Given the description of an element on the screen output the (x, y) to click on. 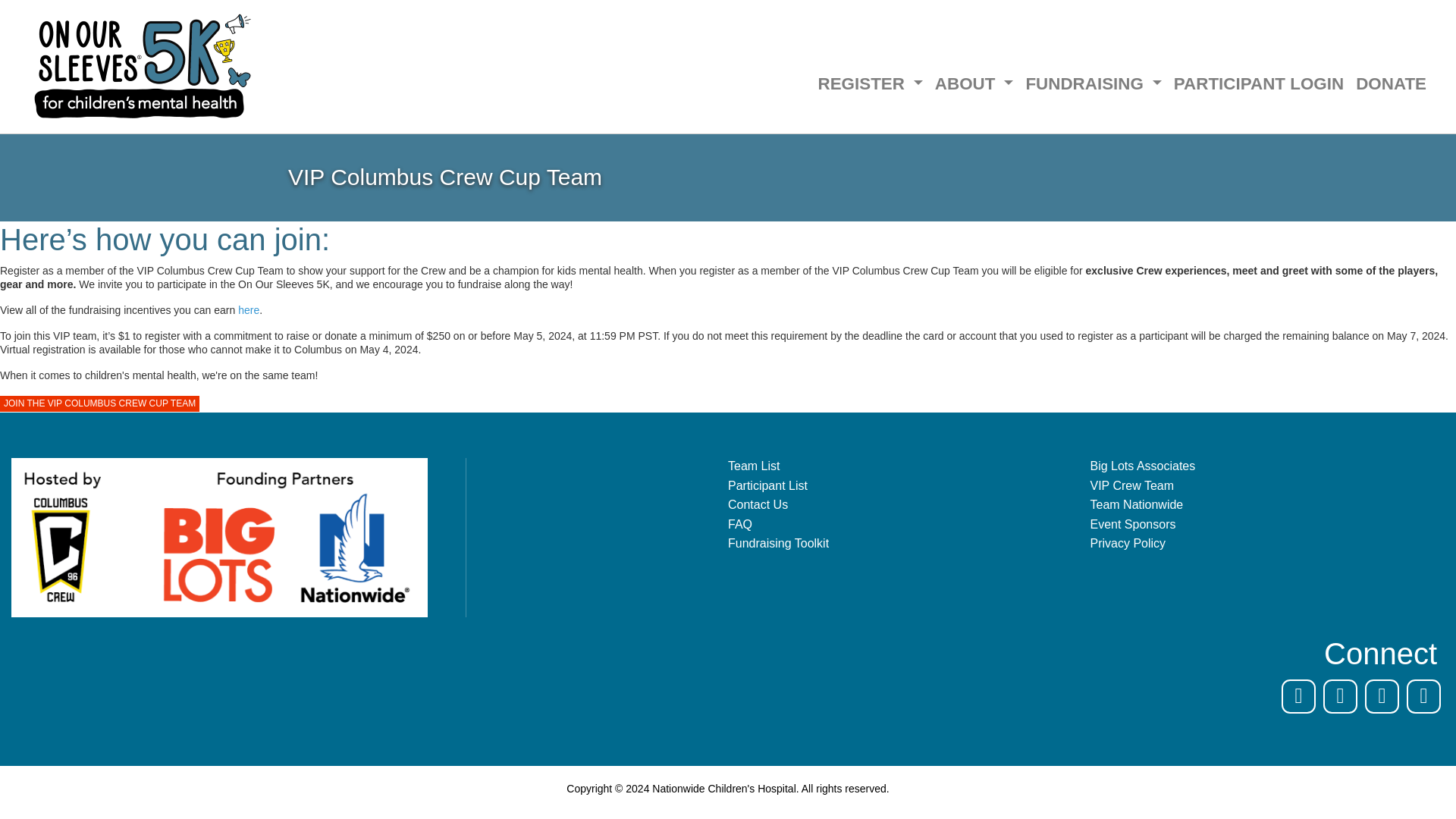
ABOUT (974, 83)
Privacy Policy (1271, 543)
FAQ (909, 524)
PARTICIPANT LOGIN (1258, 83)
Team Nationwide (1271, 504)
REGISTER (869, 83)
Team List (909, 466)
Fundraising Incentives (248, 309)
VIP Crew Team (1271, 485)
Contact Us (909, 504)
